Given the description of an element on the screen output the (x, y) to click on. 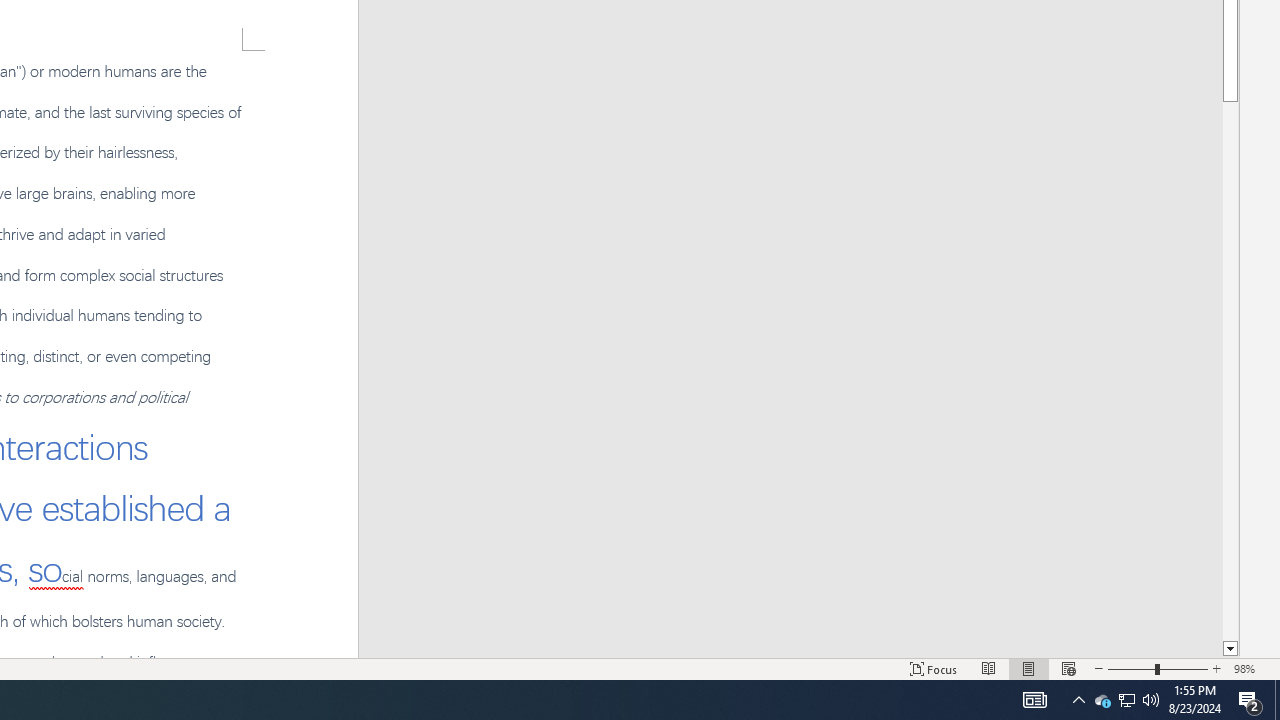
Page down (1230, 371)
Line down (1230, 649)
